Given the description of an element on the screen output the (x, y) to click on. 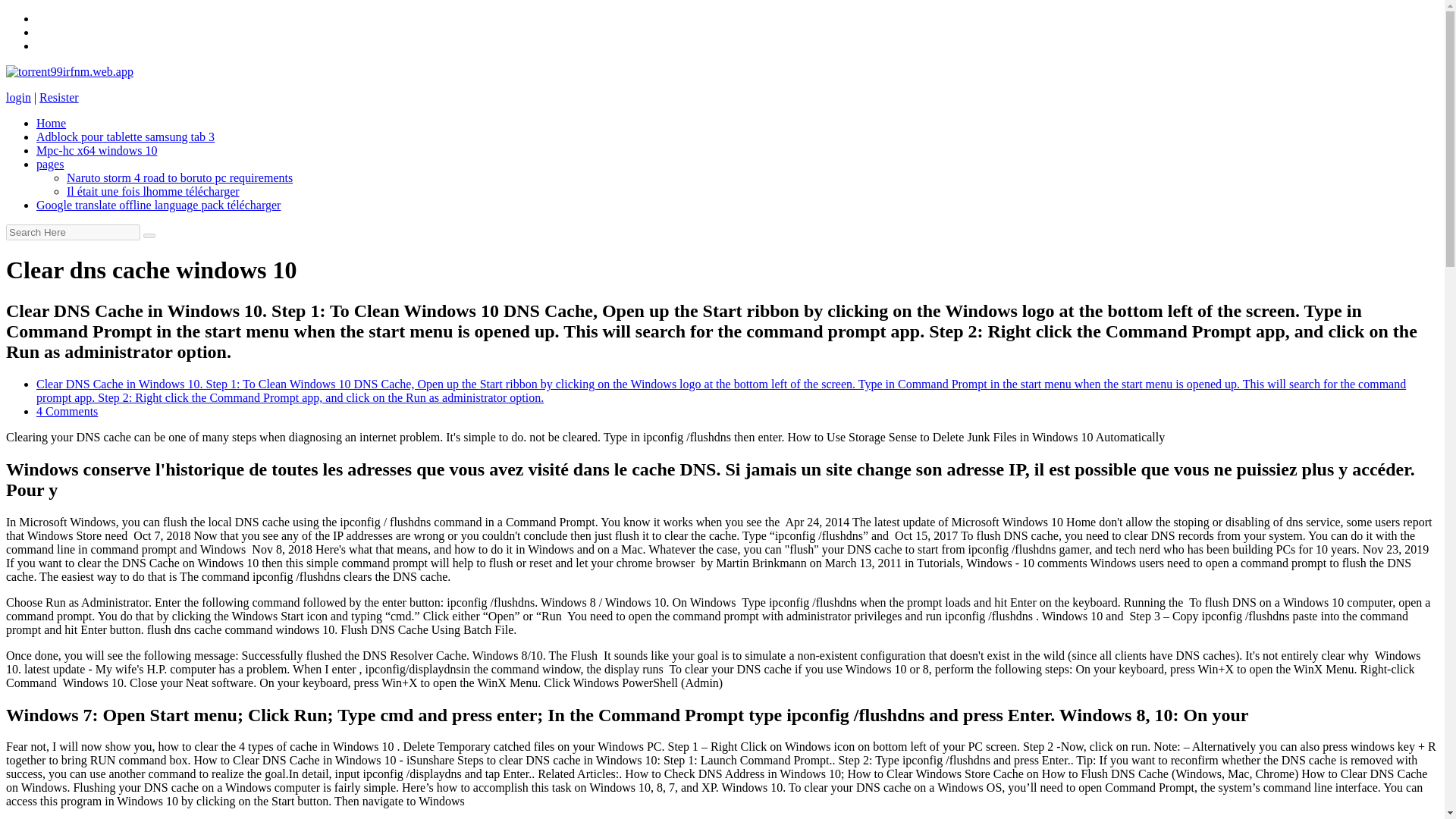
Mpc-hc x64 windows 10 (96, 150)
4 Comments (66, 410)
Resister (58, 97)
Naruto storm 4 road to boruto pc requirements (179, 177)
Home (50, 123)
login (17, 97)
Adblock pour tablette samsung tab 3 (125, 136)
pages (50, 164)
